Given the description of an element on the screen output the (x, y) to click on. 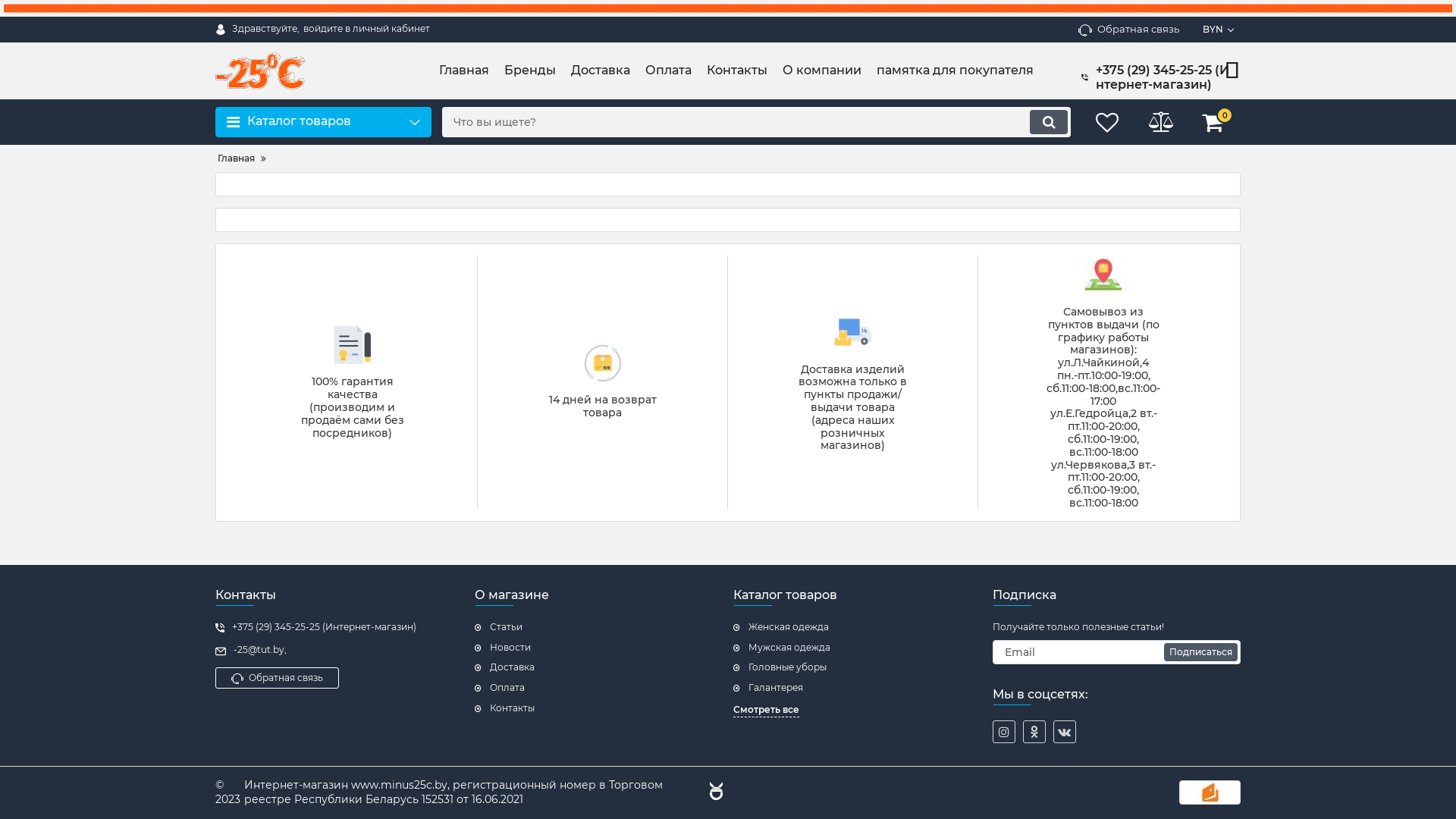
OkayCms Element type: hover (714, 792)
odnoklassniki Element type: hover (1033, 731)
vk Element type: hover (1063, 731)
-25@tut.by, Element type: text (339, 649)
instagram Element type: hover (1002, 731)
